Given the description of an element on the screen output the (x, y) to click on. 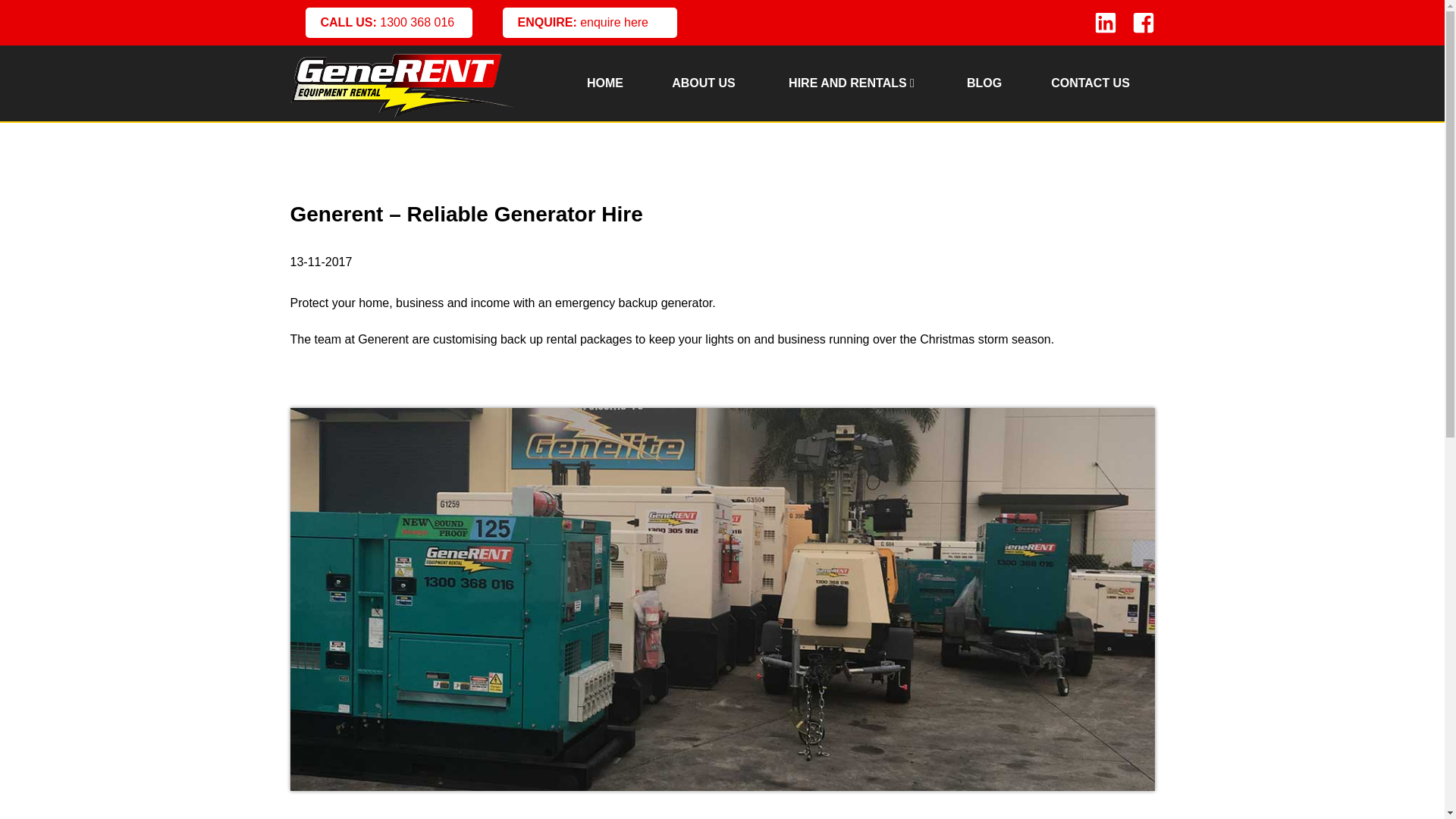
CONTACT US Element type: text (1089, 83)
ENQUIRE: enquire here Element type: text (589, 22)
CALL US: 1300 368 016 Element type: text (387, 22)
HOME Element type: text (604, 83)
BLOG Element type: text (983, 83)
ABOUT US Element type: text (702, 83)
